Given the description of an element on the screen output the (x, y) to click on. 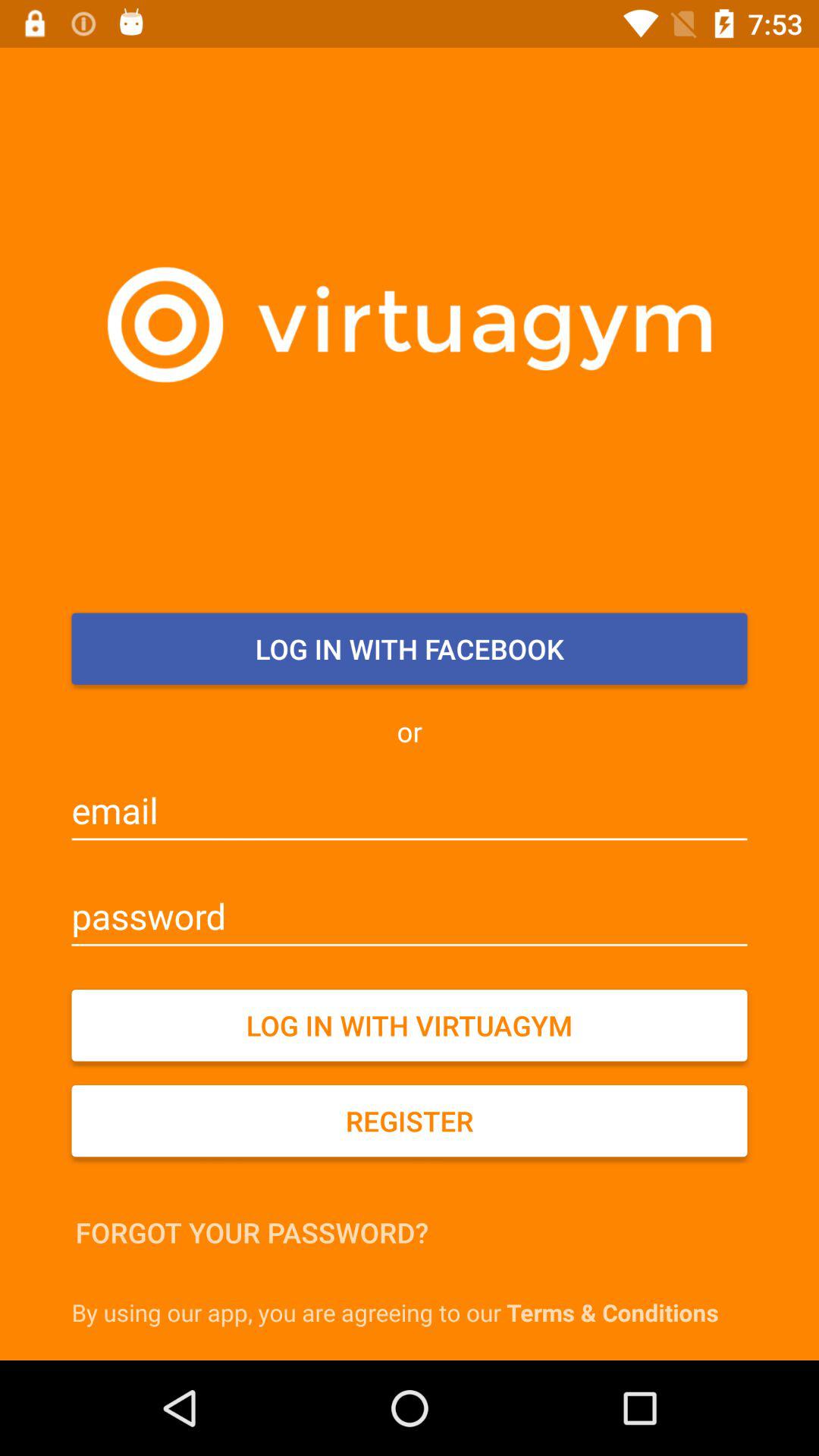
turn off the register item (409, 1120)
